Given the description of an element on the screen output the (x, y) to click on. 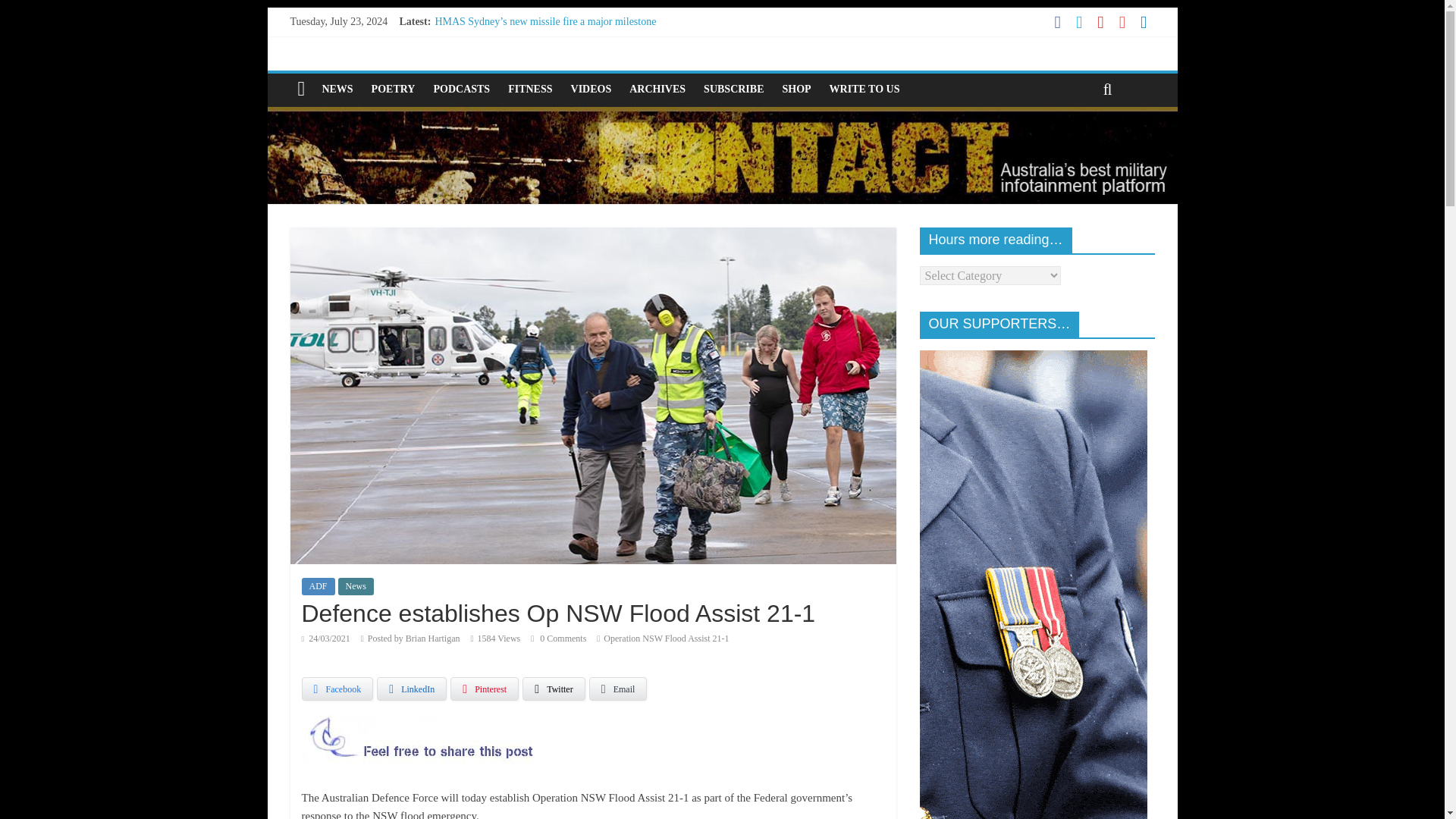
CONTACT magazine (721, 115)
VIDEOS (591, 89)
Share an image of this article on Pinterest (483, 689)
Email (618, 689)
Operation NSW Flood Assist 21-1 (666, 638)
Posted by Brian Hartigan (414, 638)
SUBSCRIBE (733, 89)
News (355, 586)
PODCASTS (461, 89)
WRITE TO US (864, 89)
Facebook (337, 689)
LinkedIn (411, 689)
ADF (317, 586)
Share this article on LinkedIn (411, 689)
0 Comments (558, 638)
